Given the description of an element on the screen output the (x, y) to click on. 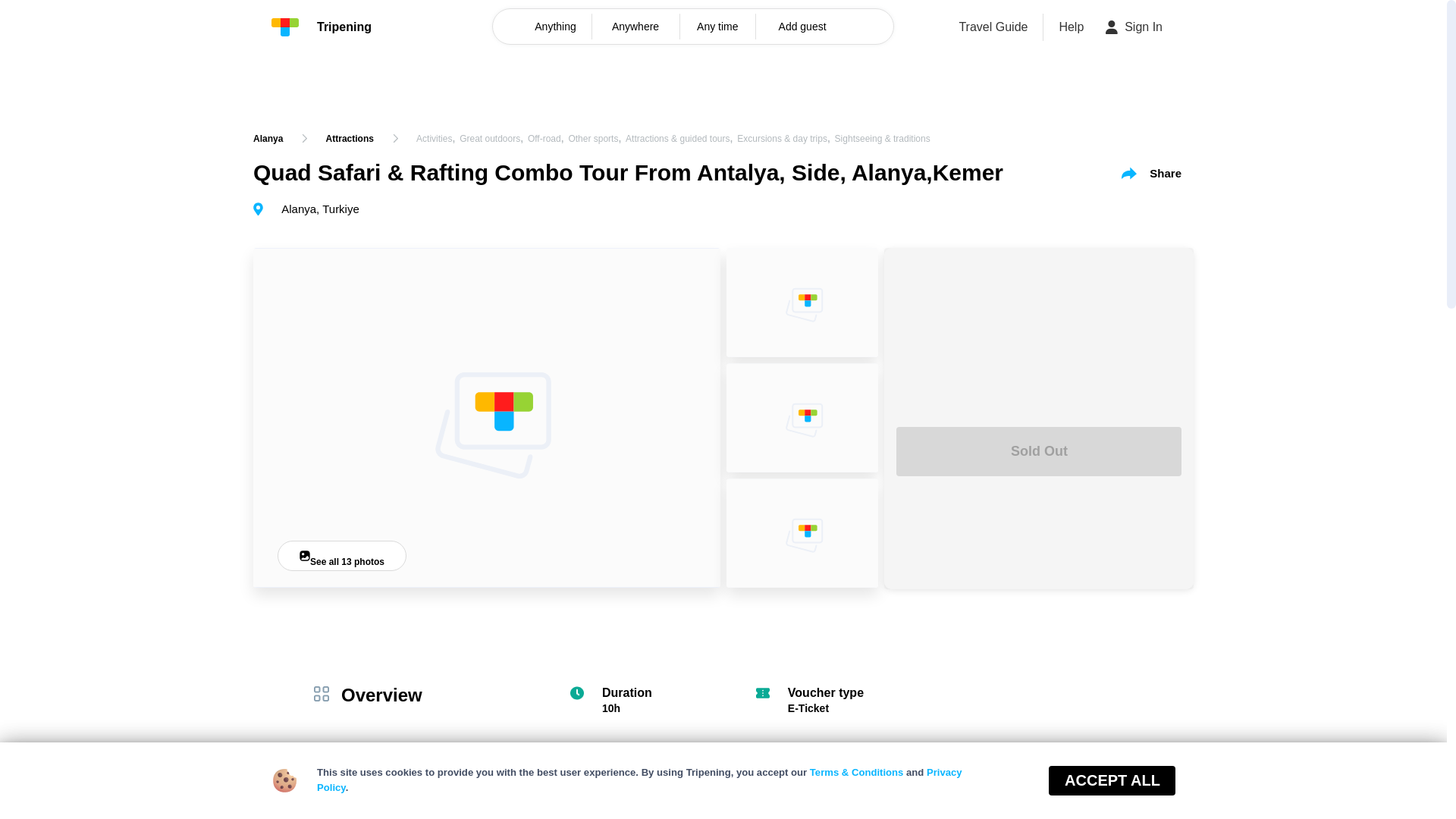
Alanya (267, 138)
Share (1151, 172)
Attractions (350, 138)
Sign In (1134, 26)
Sold Out (1038, 450)
Help (1071, 26)
Tripening (320, 27)
Book Now (1112, 781)
Great outdoors (489, 138)
Activities (433, 138)
Privacy Policy (639, 779)
SOLD OUT (1354, 781)
Off-road (543, 138)
Travel Guide (992, 26)
Other sports (592, 138)
